Given the description of an element on the screen output the (x, y) to click on. 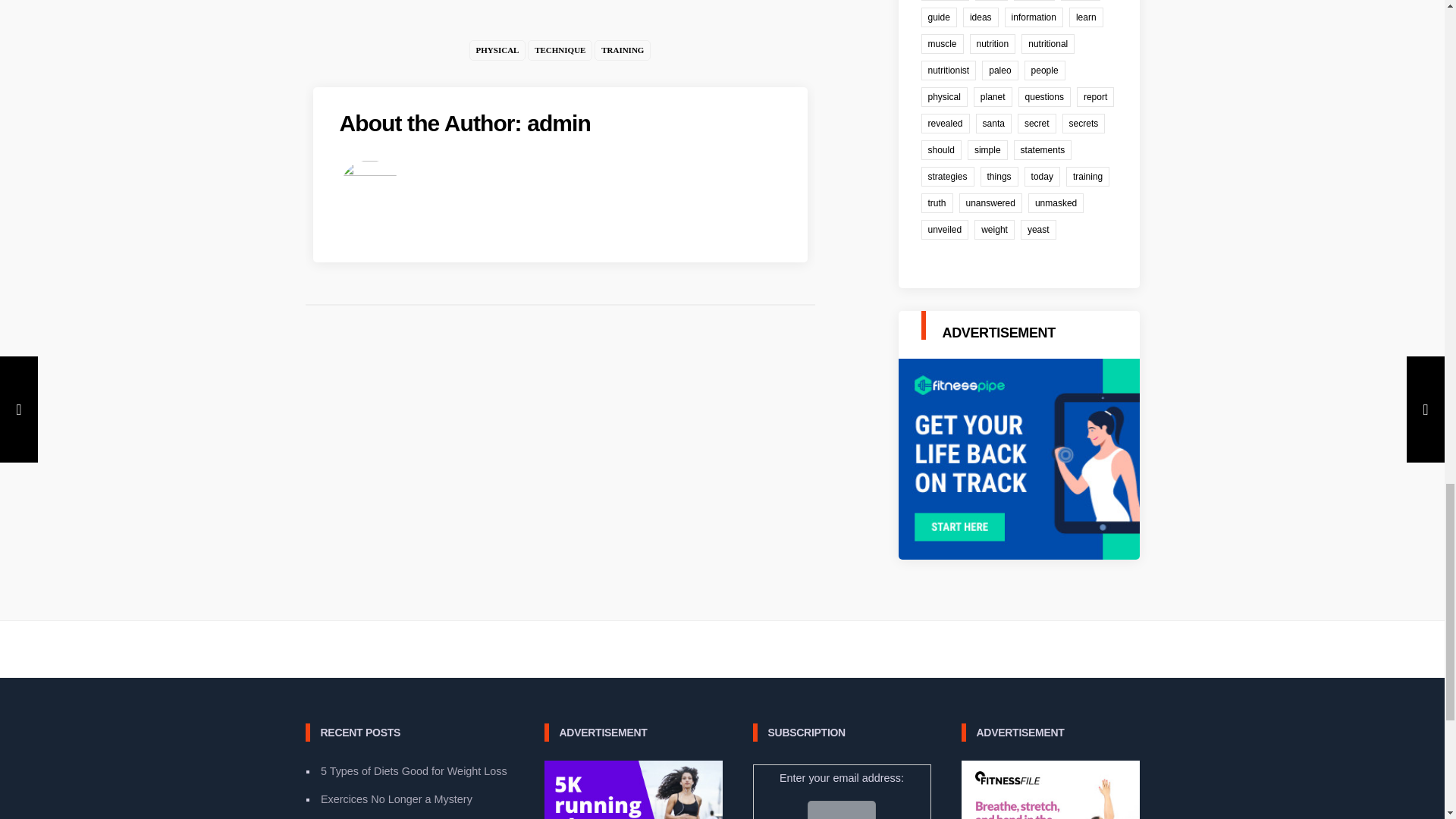
TRAINING (622, 50)
Posts by admin (559, 122)
TECHNIQUE (559, 50)
PHYSICAL (496, 50)
admin (559, 122)
